Given the description of an element on the screen output the (x, y) to click on. 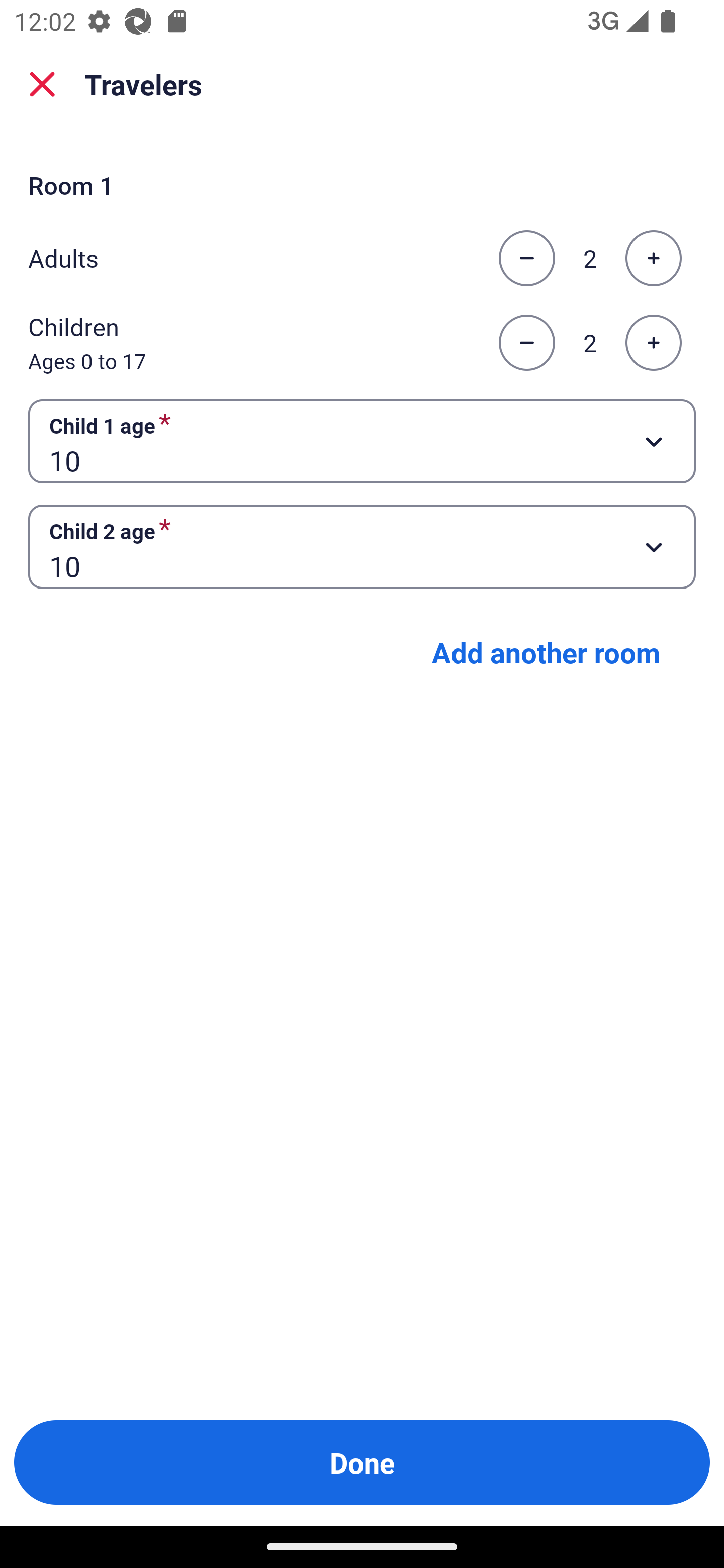
close (42, 84)
Decrease the number of adults (526, 258)
Increase the number of adults (653, 258)
Decrease the number of children (526, 343)
Increase the number of children (653, 343)
Child 1 age required Button 10 (361, 440)
Child 2 age required Button 10 (361, 546)
Add another room (545, 651)
Done (361, 1462)
